Given the description of an element on the screen output the (x, y) to click on. 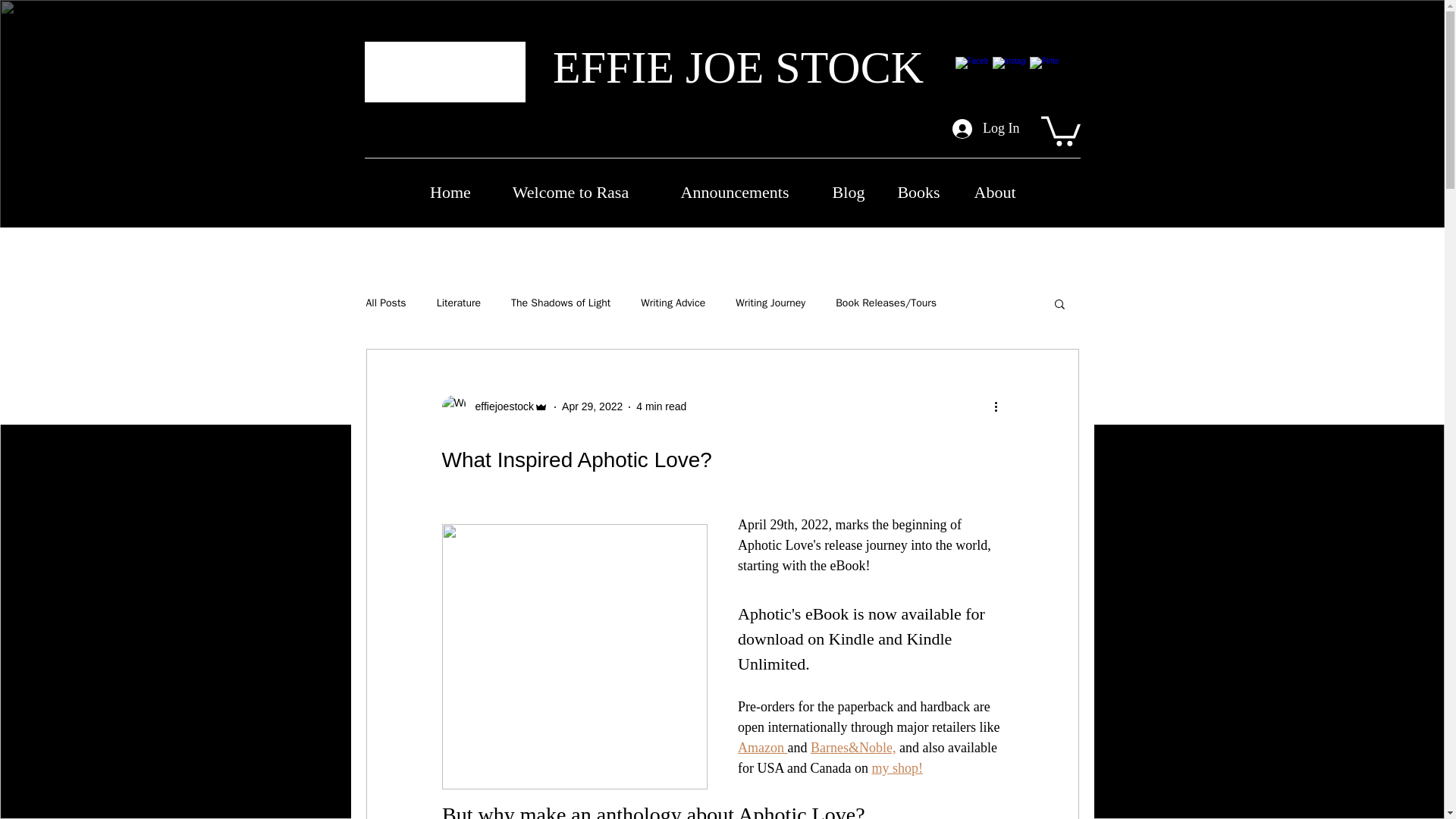
my shop! (896, 767)
Writing Journey (770, 303)
Writing Advice (672, 303)
EFFIE JOE STOCK (738, 67)
About (994, 185)
Log In (986, 128)
4 min read (660, 406)
All Posts (385, 303)
Welcome to Rasa (569, 185)
The Shadows of Light (560, 303)
